Given the description of an element on the screen output the (x, y) to click on. 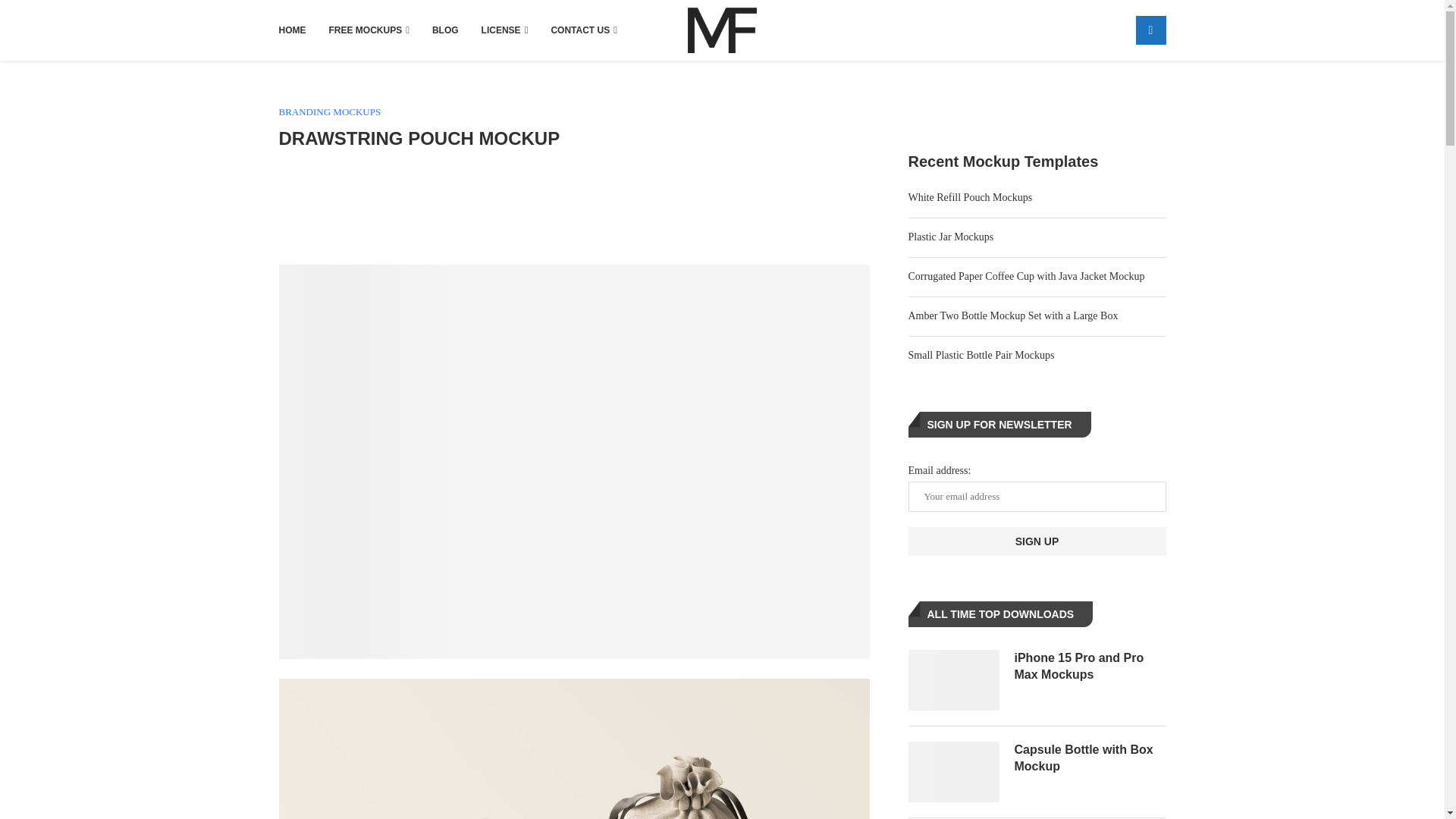
LICENSE (504, 30)
Sign up (1037, 541)
FREE MOCKUPS (369, 30)
CONTACT US (583, 30)
